Given the description of an element on the screen output the (x, y) to click on. 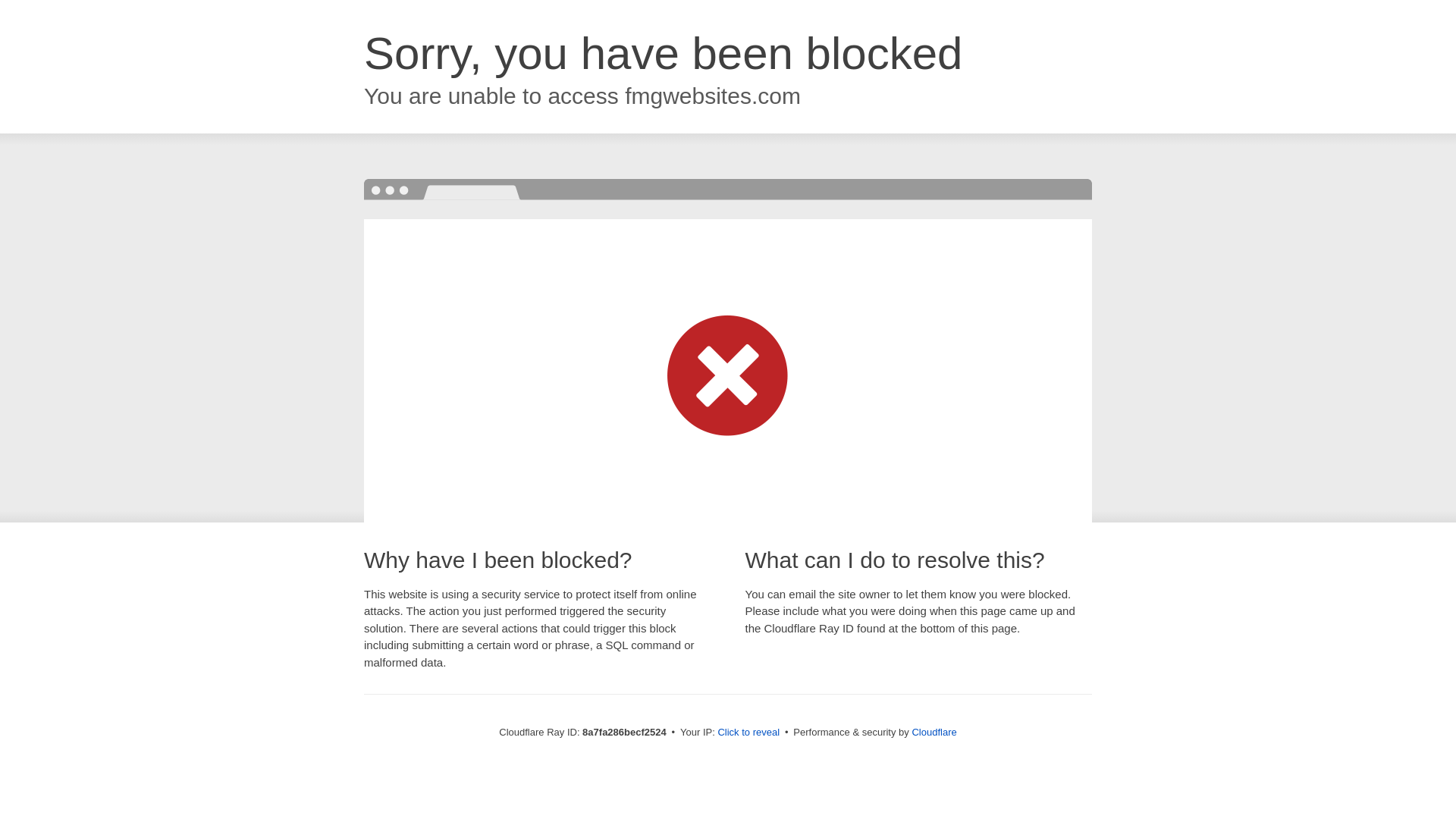
Cloudflare (933, 731)
Click to reveal (747, 732)
